Given the description of an element on the screen output the (x, y) to click on. 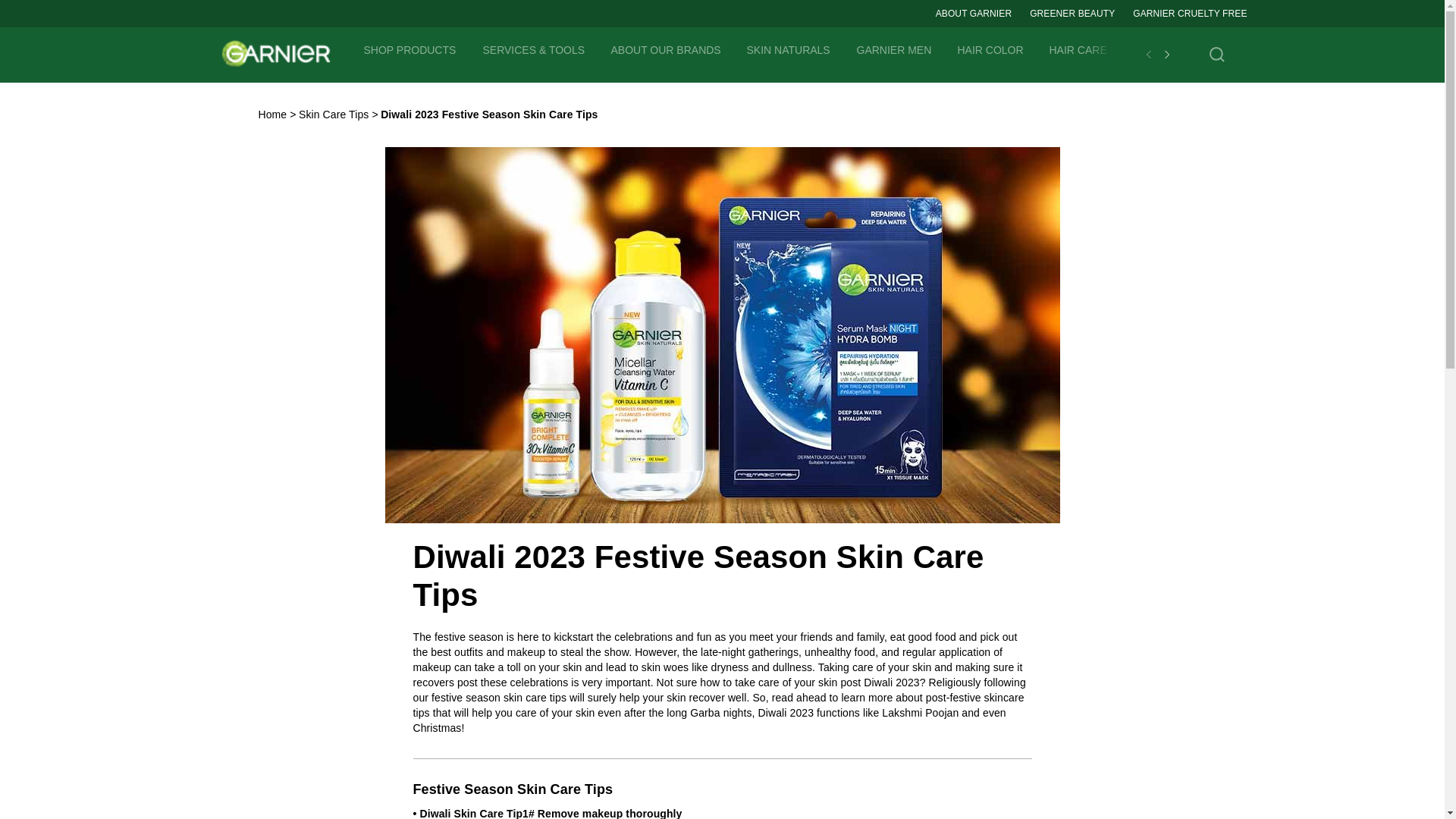
SHOP PRODUCTS (410, 49)
HAIR COLOR (991, 49)
GARNIER MEN (894, 49)
GARNIER CRUELTY FREE (1189, 13)
GREEN BEAUTY (1288, 49)
SKIN NATURALS (788, 49)
ABOUT GARNIER (973, 13)
ABOUT OUR BRANDS (666, 49)
GREENER BEAUTY (1072, 13)
HAIR CARE (1078, 49)
